Given the description of an element on the screen output the (x, y) to click on. 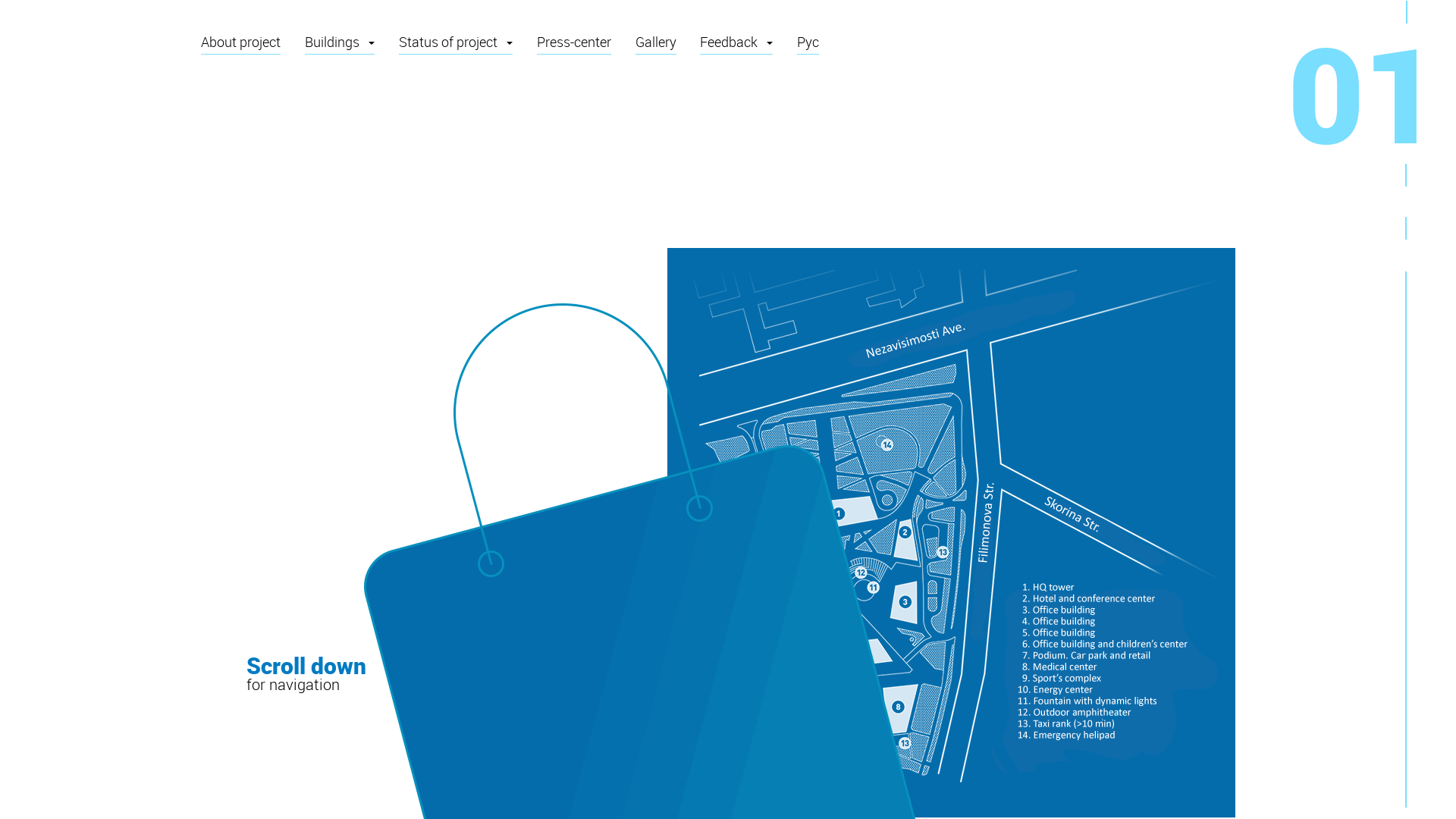
About project Element type: text (240, 41)
03 Element type: text (1405, 240)
Gallery Element type: text (655, 41)
01 Element type: text (1363, 79)
02 Element type: text (1405, 187)
Press-center Element type: text (573, 41)
